Given the description of an element on the screen output the (x, y) to click on. 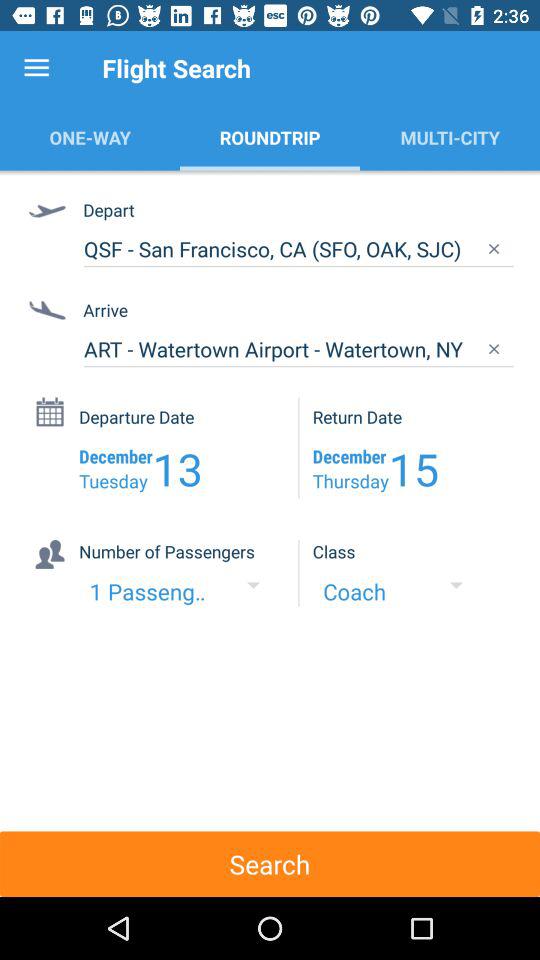
tap item below arrive icon (298, 349)
